Given the description of an element on the screen output the (x, y) to click on. 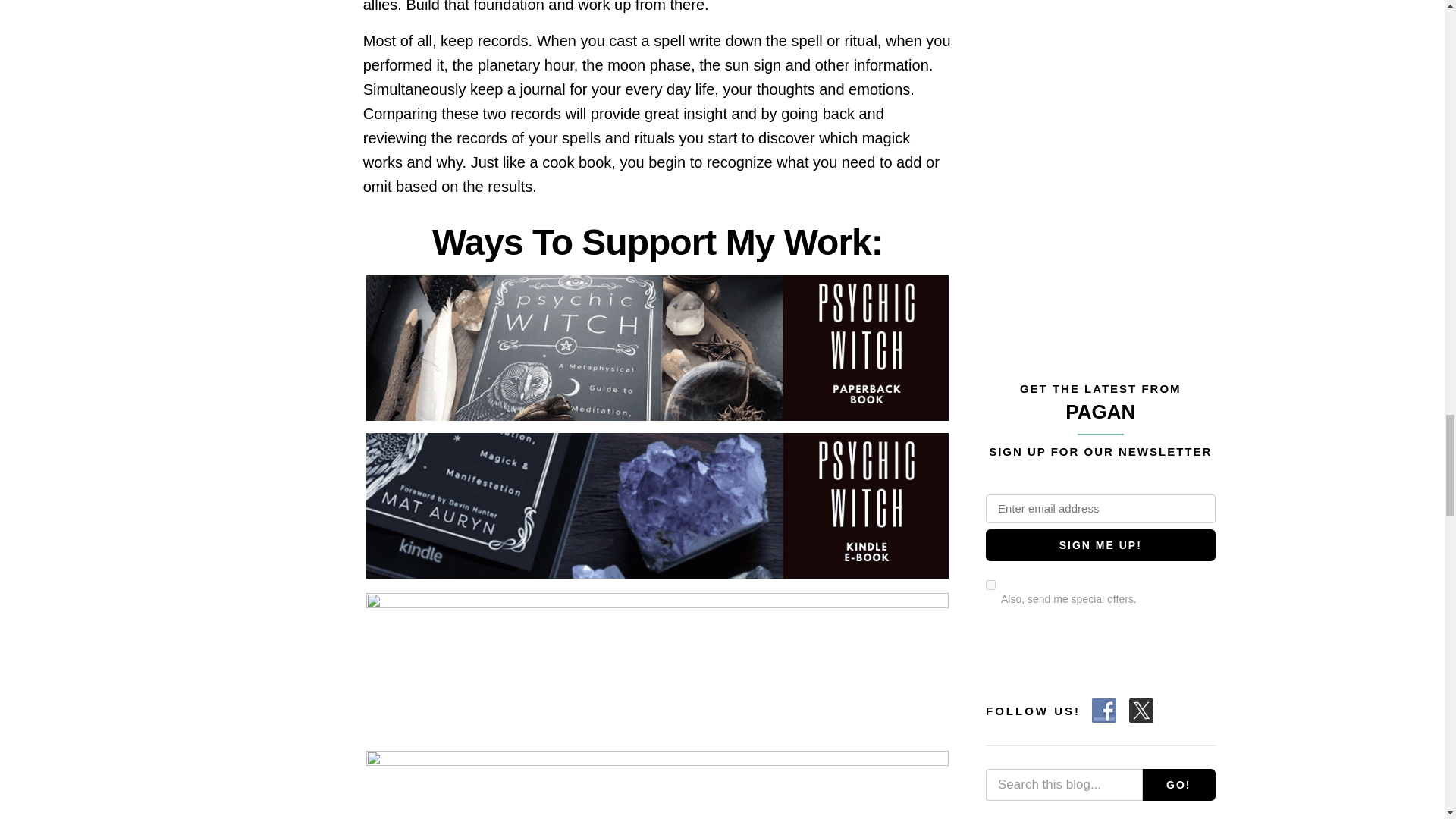
true (990, 584)
Sign me up! (1100, 545)
Follow Us on Facebook (1104, 709)
Go! (1177, 785)
Follow Us on Twitter (1141, 709)
